Given the description of an element on the screen output the (x, y) to click on. 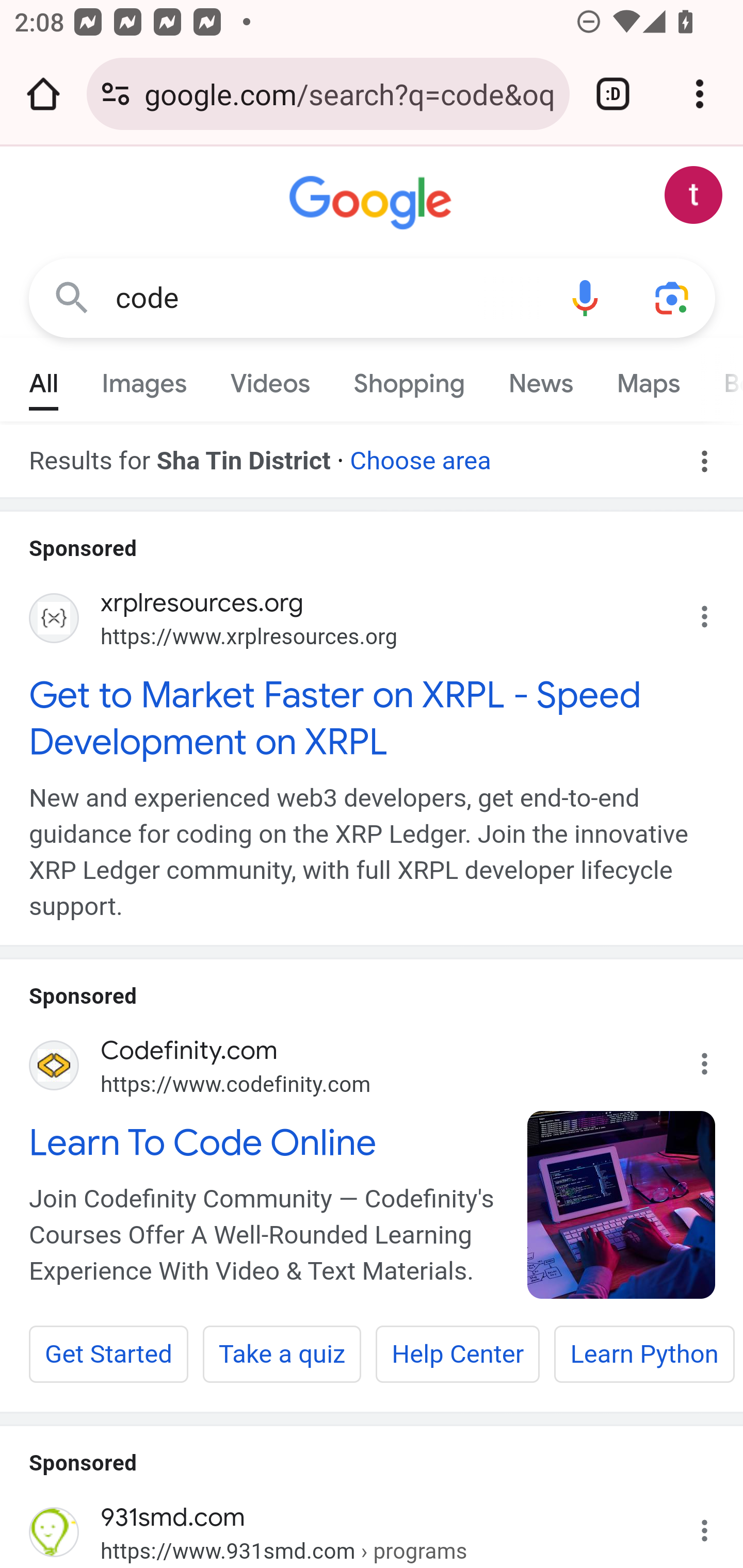
Open the home page (43, 93)
Connection is secure (115, 93)
Switch or close tabs (612, 93)
Customize and control Google Chrome (699, 93)
Google (372, 203)
Google Search (71, 296)
Search using your camera or photos (672, 296)
code (328, 297)
Images (144, 378)
Videos (270, 378)
Shopping (408, 378)
News (540, 378)
Maps (647, 378)
Choose area (419, 453)
Why this ad? (714, 611)
Why this ad? (714, 1058)
Image from codefinity.com (621, 1204)
Learn To Code Online (266, 1142)
Get Started (108, 1354)
Take a quiz (282, 1354)
Help Center (458, 1354)
Learn Python (643, 1354)
Why this ad? (714, 1524)
